Given the description of an element on the screen output the (x, y) to click on. 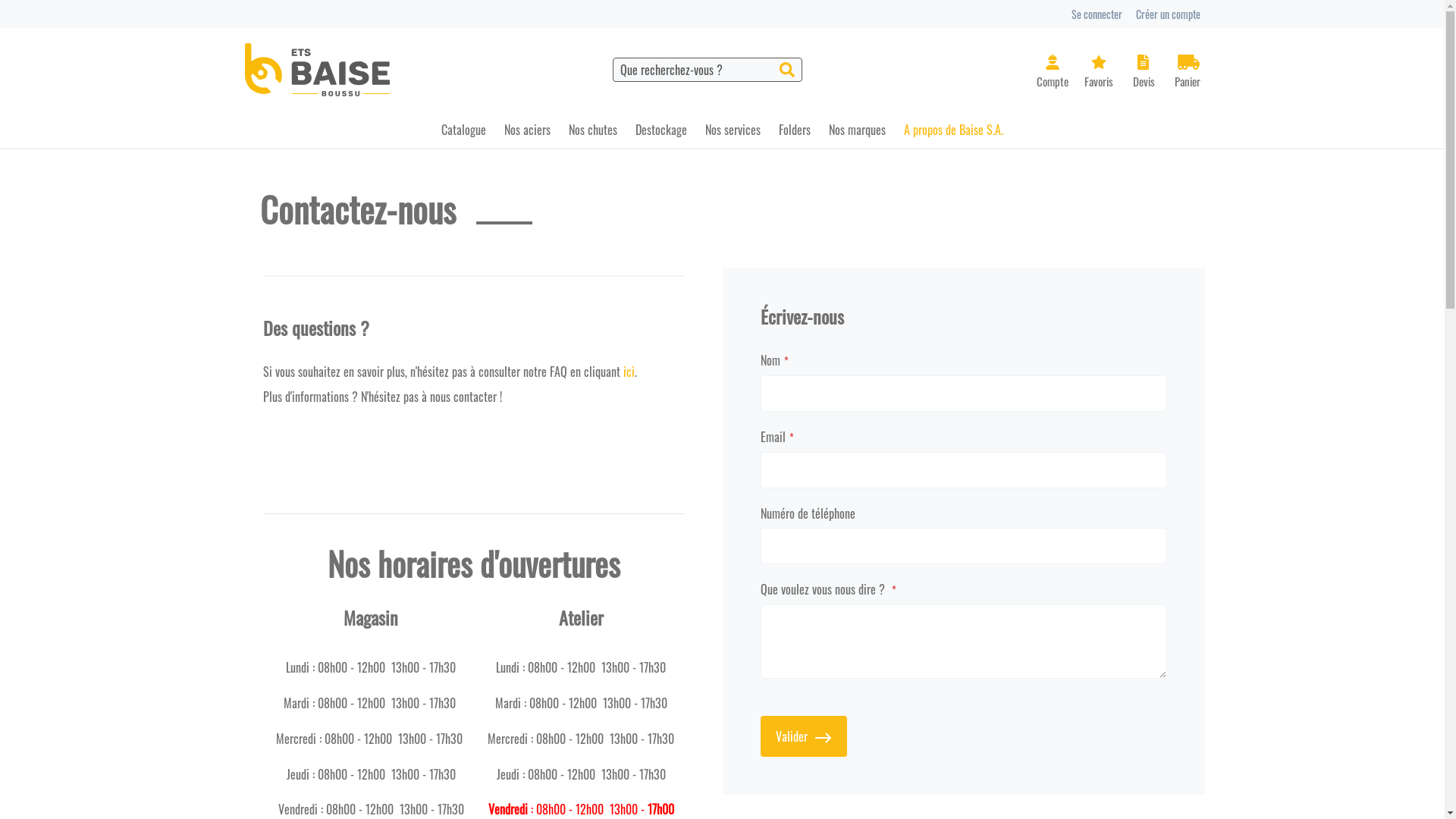
Email Element type: hover (962, 469)
Chercher Element type: text (786, 69)
Panier Element type: text (1187, 73)
Folders Element type: text (794, 129)
Nos chutes Element type: text (592, 129)
Se connecter Element type: text (1095, 13)
Connexion Element type: hover (1051, 71)
Devis Element type: hover (1144, 72)
Nos services Element type: text (732, 129)
Valider Element type: text (802, 735)
Que voulez vous nous dire ? Element type: hover (962, 641)
Nos aciers Element type: text (527, 129)
Catalogue Element type: text (463, 129)
Destockage Element type: text (661, 129)
Nos marques Element type: text (856, 129)
ici Element type: text (628, 371)
Nom Element type: hover (962, 393)
A propos de Baise S.A. Element type: text (953, 129)
Ma liste d'achats Element type: hover (1101, 72)
